Given the description of an element on the screen output the (x, y) to click on. 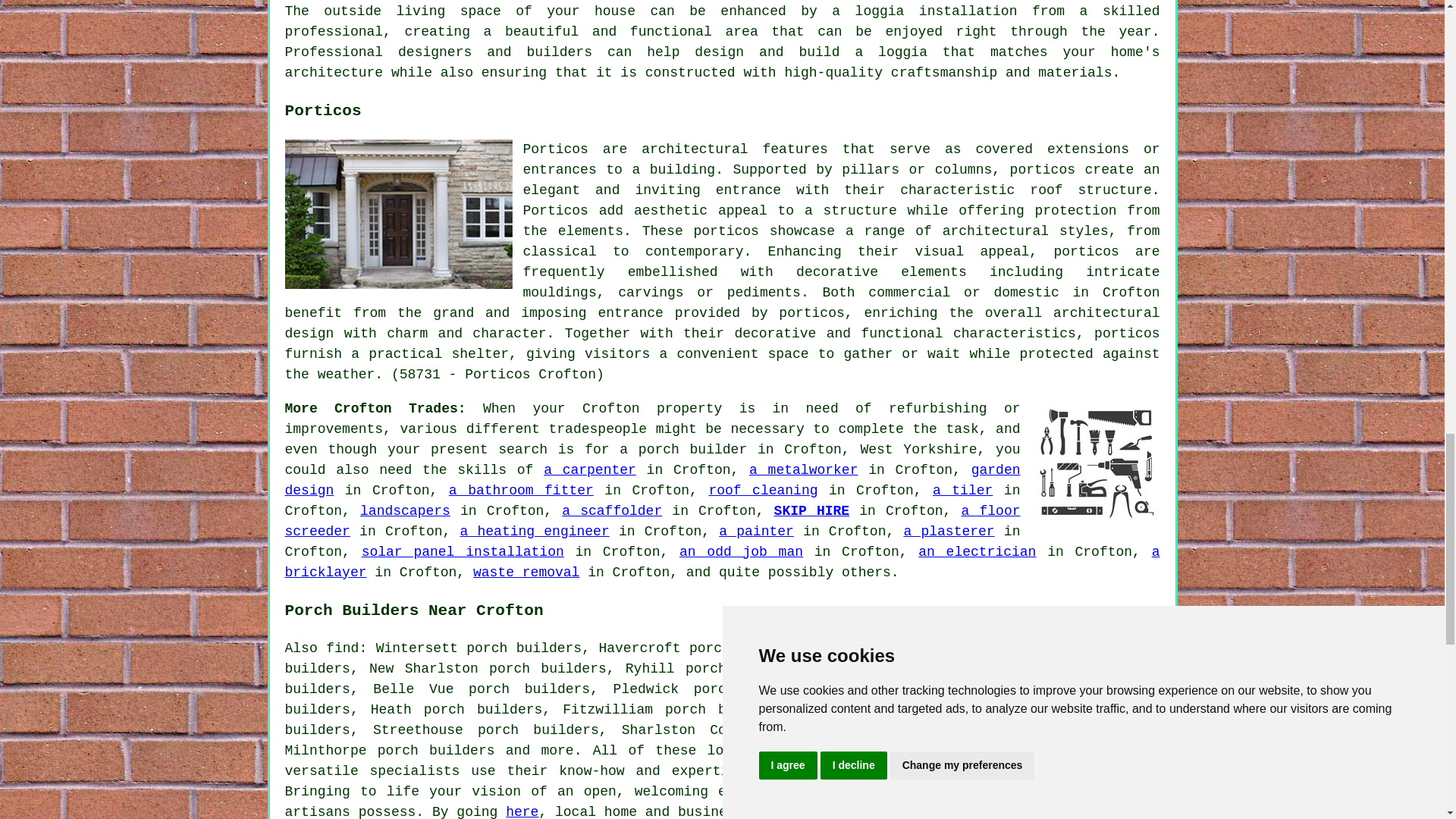
porticos (811, 312)
porch (992, 791)
More Crofton Tradesmen (1095, 462)
Porticos Crofton (398, 214)
